Given the description of an element on the screen output the (x, y) to click on. 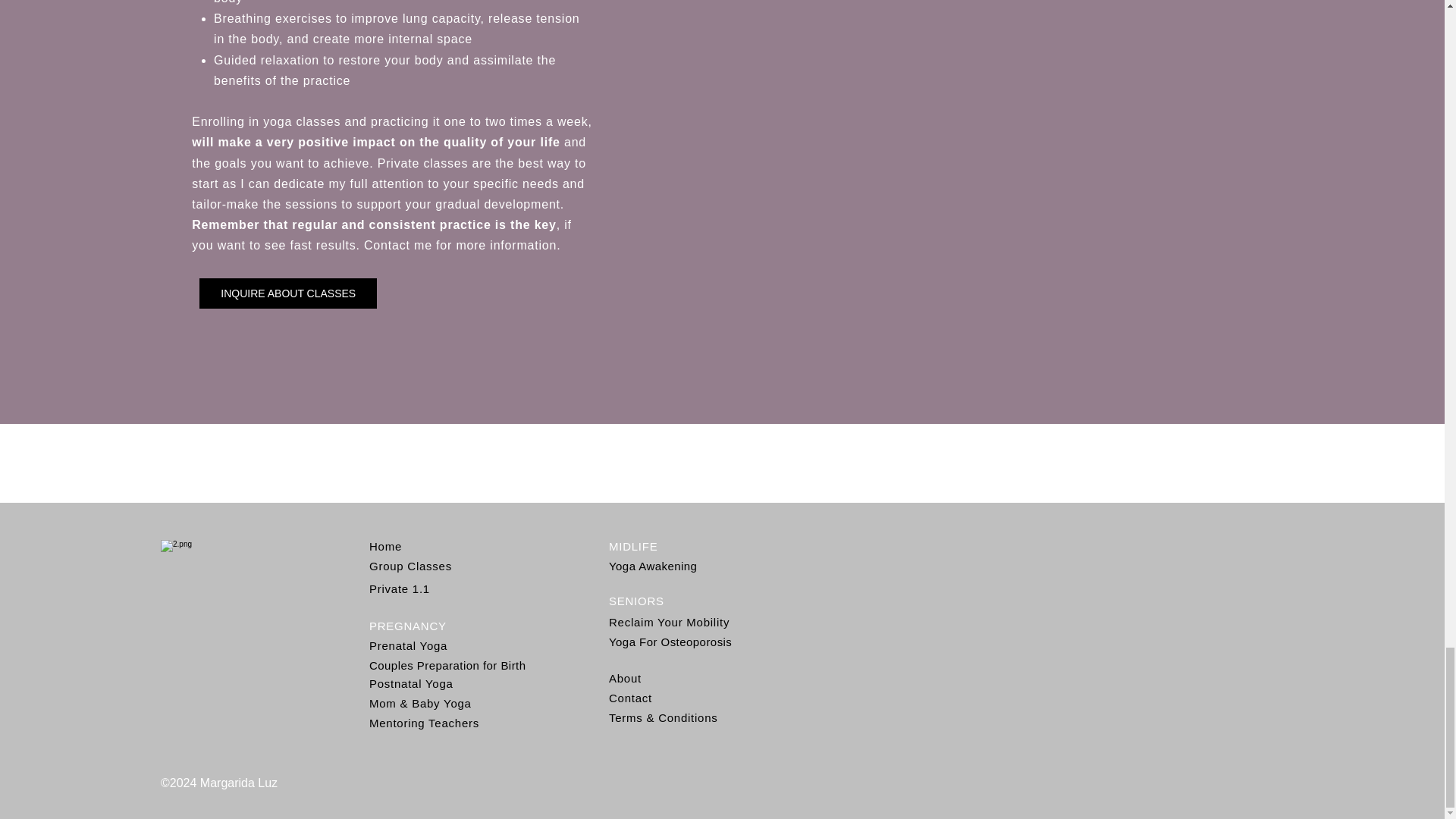
Home (385, 545)
Mentoring Teachers (424, 722)
Contact (630, 697)
Postnatal Yoga (410, 683)
Reclaim Your Mobility (668, 621)
INQUIRE ABOUT CLASSES (288, 293)
PREGNANCY (407, 625)
SENIORS (635, 600)
About (625, 677)
Prenatal Yoga (407, 645)
Couples Preparation for Birth (447, 665)
Yoga For Osteoporosis (670, 641)
MIDLIFE (633, 545)
Private 1.1 (399, 588)
Yoga Awakening (652, 565)
